Given the description of an element on the screen output the (x, y) to click on. 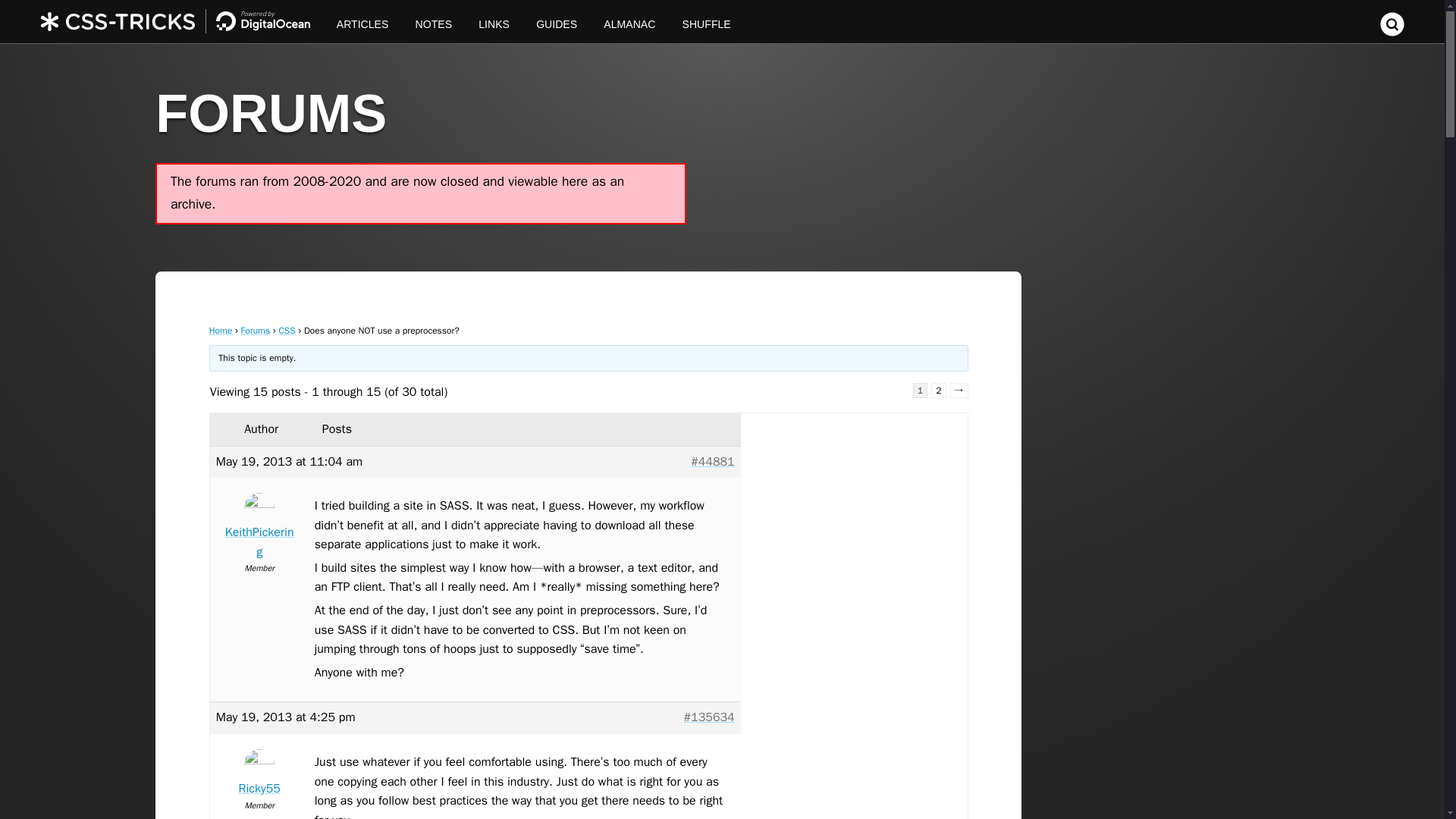
Home (220, 330)
CSS-Tricks (181, 21)
SHUFFLE (706, 21)
CSS (286, 330)
LINKS (493, 21)
GUIDES (556, 21)
ARTICLES (362, 21)
Search (1392, 31)
ALMANAC (629, 21)
Forums (255, 330)
